Given the description of an element on the screen output the (x, y) to click on. 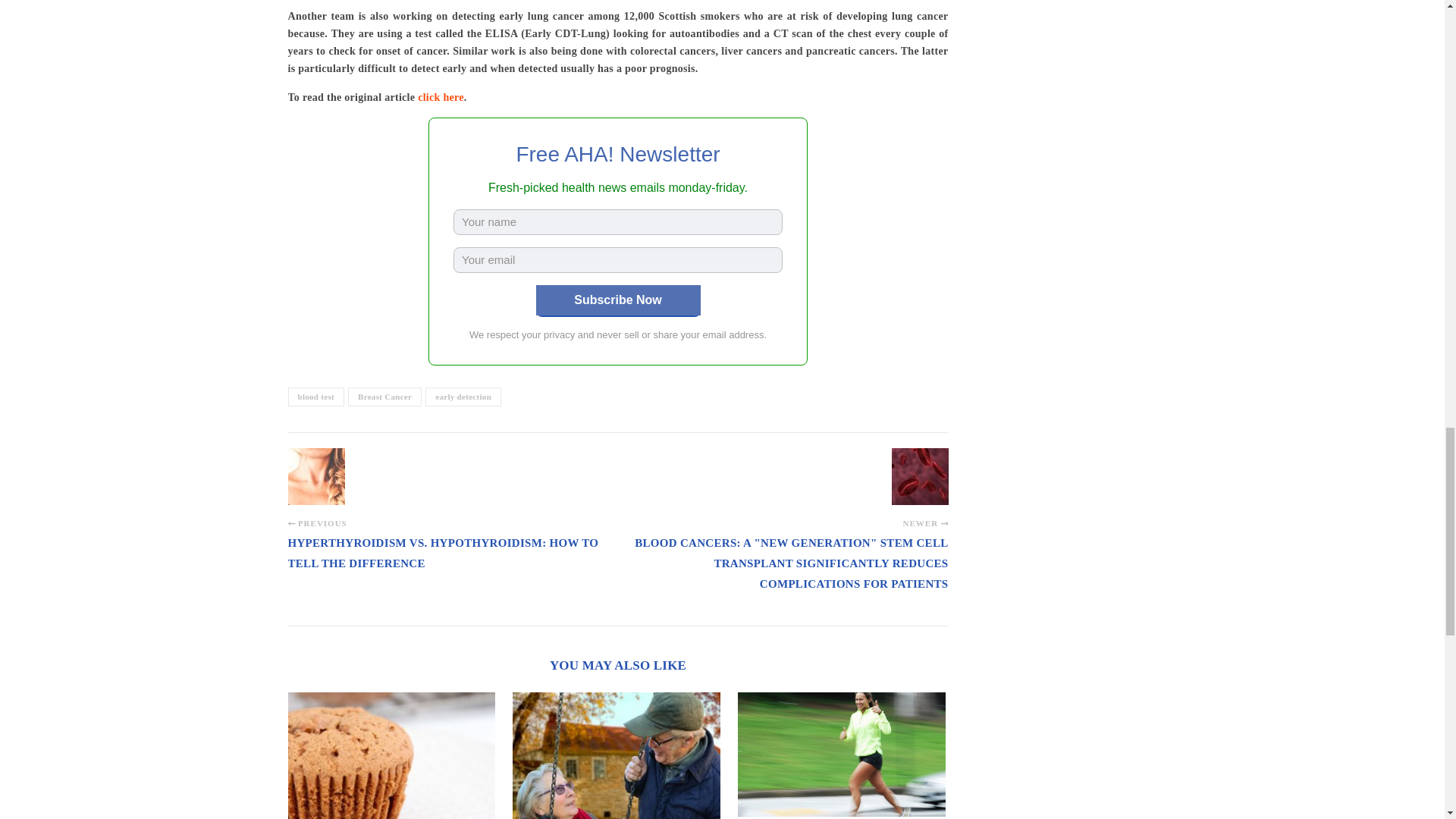
Subscribe Now (617, 300)
